Given the description of an element on the screen output the (x, y) to click on. 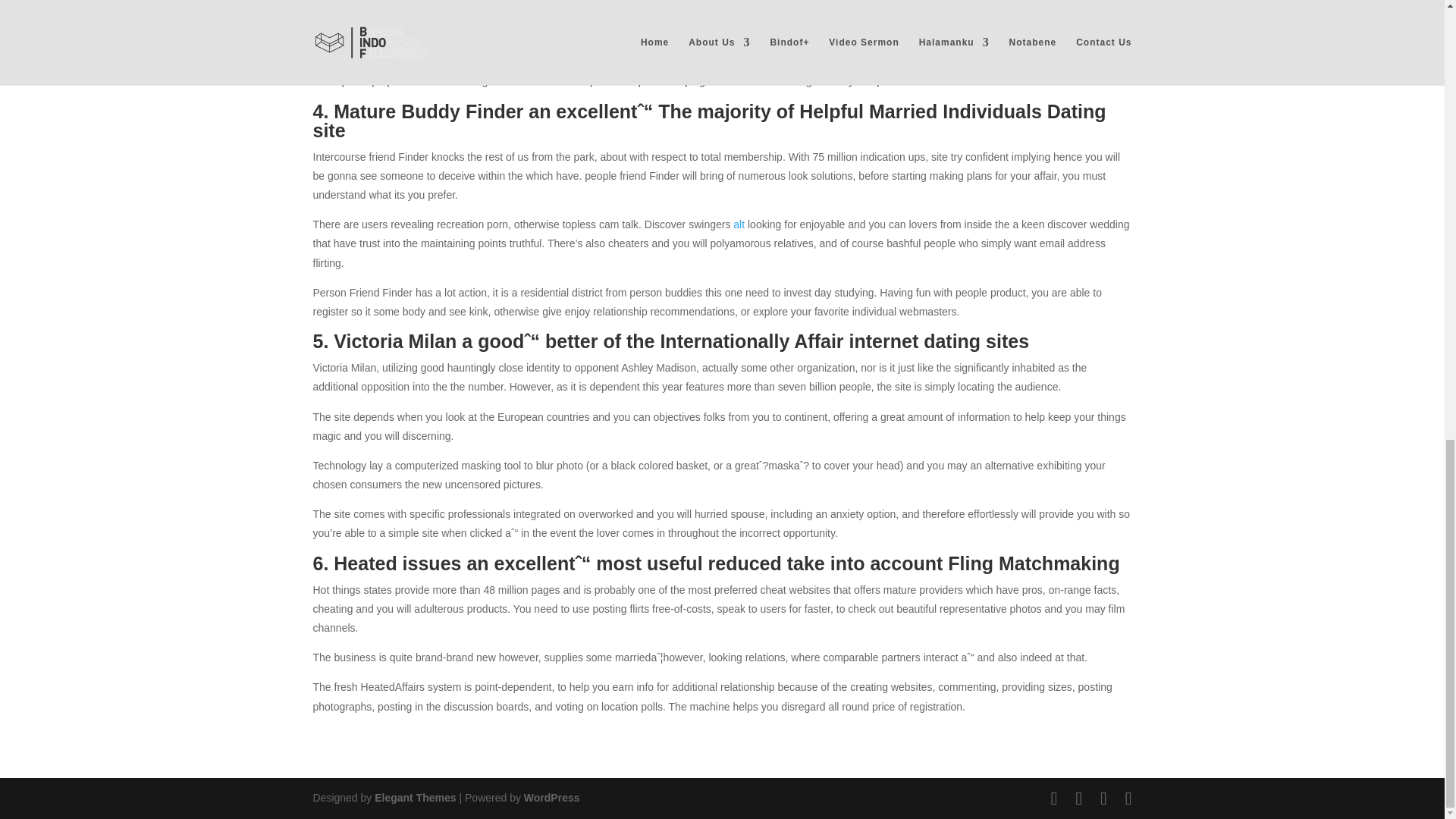
alt (738, 224)
Premium WordPress Themes (414, 797)
Elegant Themes (414, 797)
WordPress (551, 797)
